Given the description of an element on the screen output the (x, y) to click on. 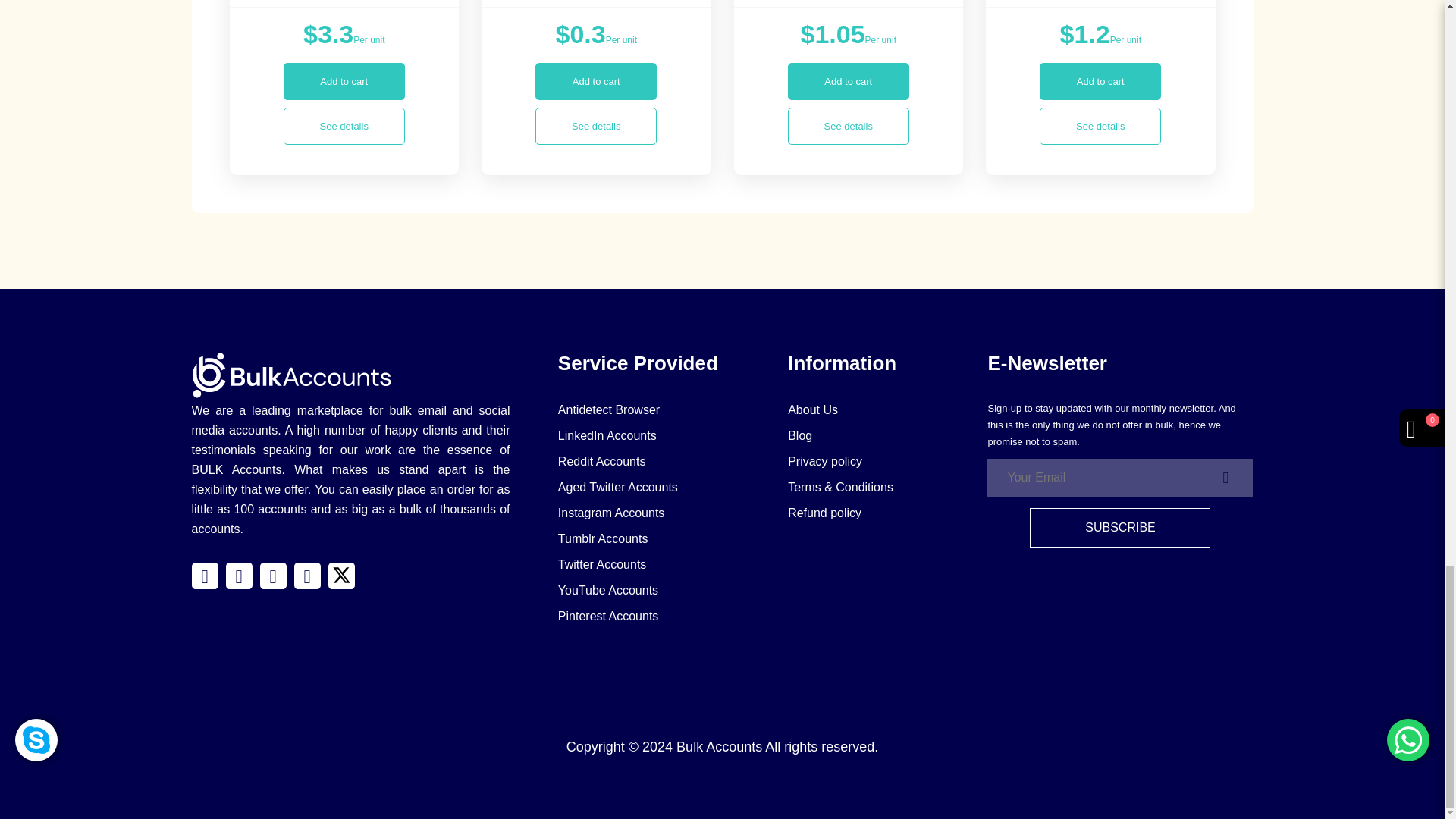
See details (343, 125)
See details (595, 125)
Add to cart (343, 81)
Add to cart (595, 81)
Subscribe (1119, 527)
Add to cart (847, 81)
Add to cart (1099, 81)
See details (847, 125)
